Given the description of an element on the screen output the (x, y) to click on. 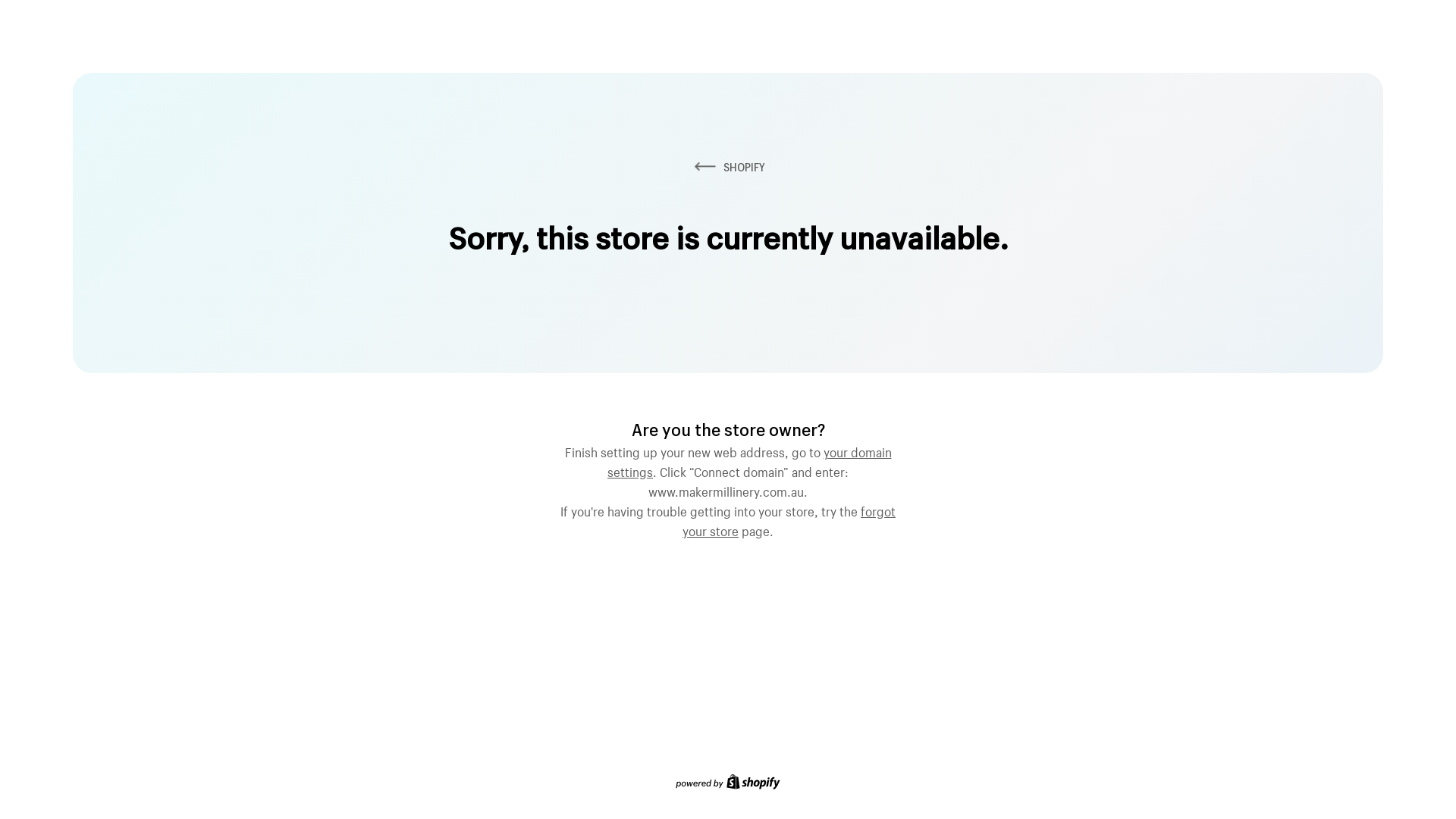
your domain settings Element type: text (749, 460)
forgot your store Element type: text (788, 519)
SHOPIFY Element type: text (727, 167)
